Given the description of an element on the screen output the (x, y) to click on. 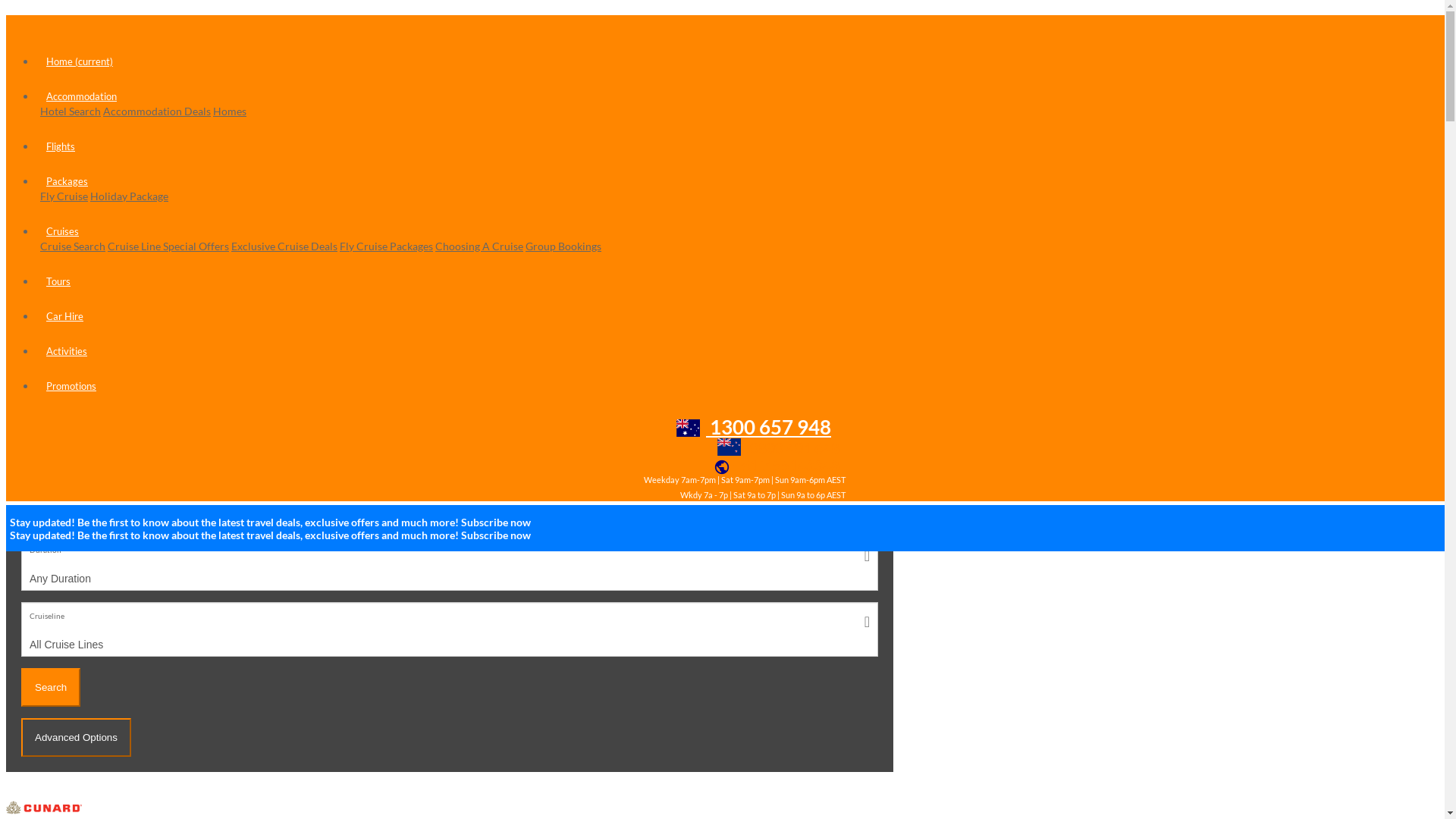
Home (current) Element type: text (79, 61)
Packages Element type: text (478, 354)
Hotel Search Element type: text (70, 110)
Choosing A Cruise Element type: text (479, 245)
Car Hire Element type: text (689, 354)
Tours Element type: text (584, 354)
0800 401 648 Element type: text (781, 447)
Holiday Package Element type: text (129, 195)
Cruise Line Special Offers Element type: text (168, 245)
Cruises Element type: text (57, 354)
Flights Element type: text (60, 146)
Flights Element type: text (795, 354)
Fly Cruises Element type: text (162, 354)
Cruises Element type: text (62, 231)
Accommodation Element type: text (81, 96)
Accommodation Deals Element type: text (156, 110)
Hotel Search Element type: text (268, 354)
Tours Element type: text (58, 281)
Fly Cruise Packages Element type: text (386, 245)
Car Hire Element type: text (64, 316)
Advanced Options Element type: text (76, 737)
Activities Element type: text (66, 351)
Fly Cruise Element type: text (63, 195)
Homes Element type: text (229, 110)
Cruise Search Element type: text (72, 245)
public +61 7 55143348 Element type: text (779, 464)
Group Bookings Element type: text (563, 245)
Packages Element type: text (67, 181)
Exclusive Cruise Deals Element type: text (284, 245)
1300 657 948 Element type: text (756, 426)
Promotions Element type: text (71, 385)
Hotel Deals Element type: text (373, 354)
Search Element type: text (50, 687)
